Given the description of an element on the screen output the (x, y) to click on. 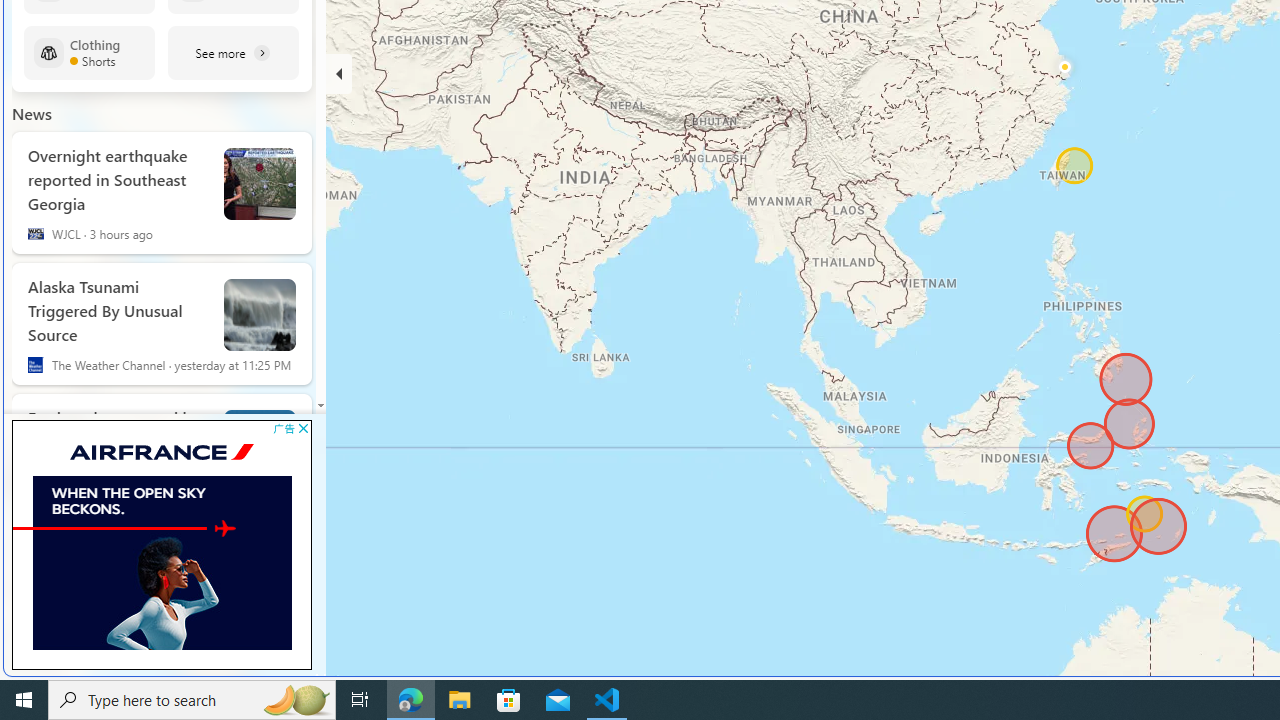
Overnight earthquake reported in Southeast Georgia (117, 175)
